Given the description of an element on the screen output the (x, y) to click on. 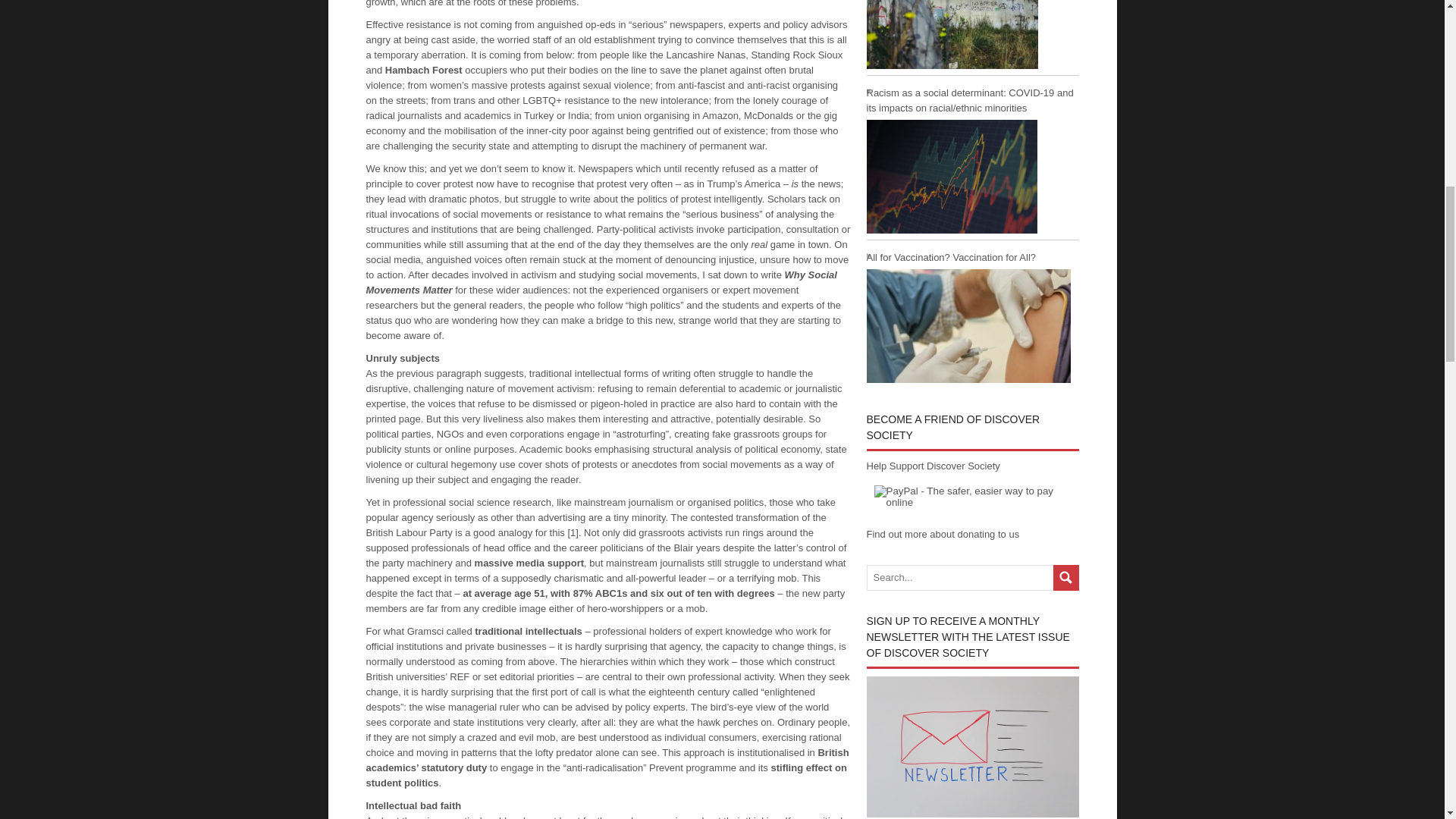
Hambach Forest (424, 69)
traditional intellectuals (528, 630)
Why Social Movements Matter (600, 281)
stifling effect on student politics (605, 774)
massive media support (529, 562)
